Given the description of an element on the screen output the (x, y) to click on. 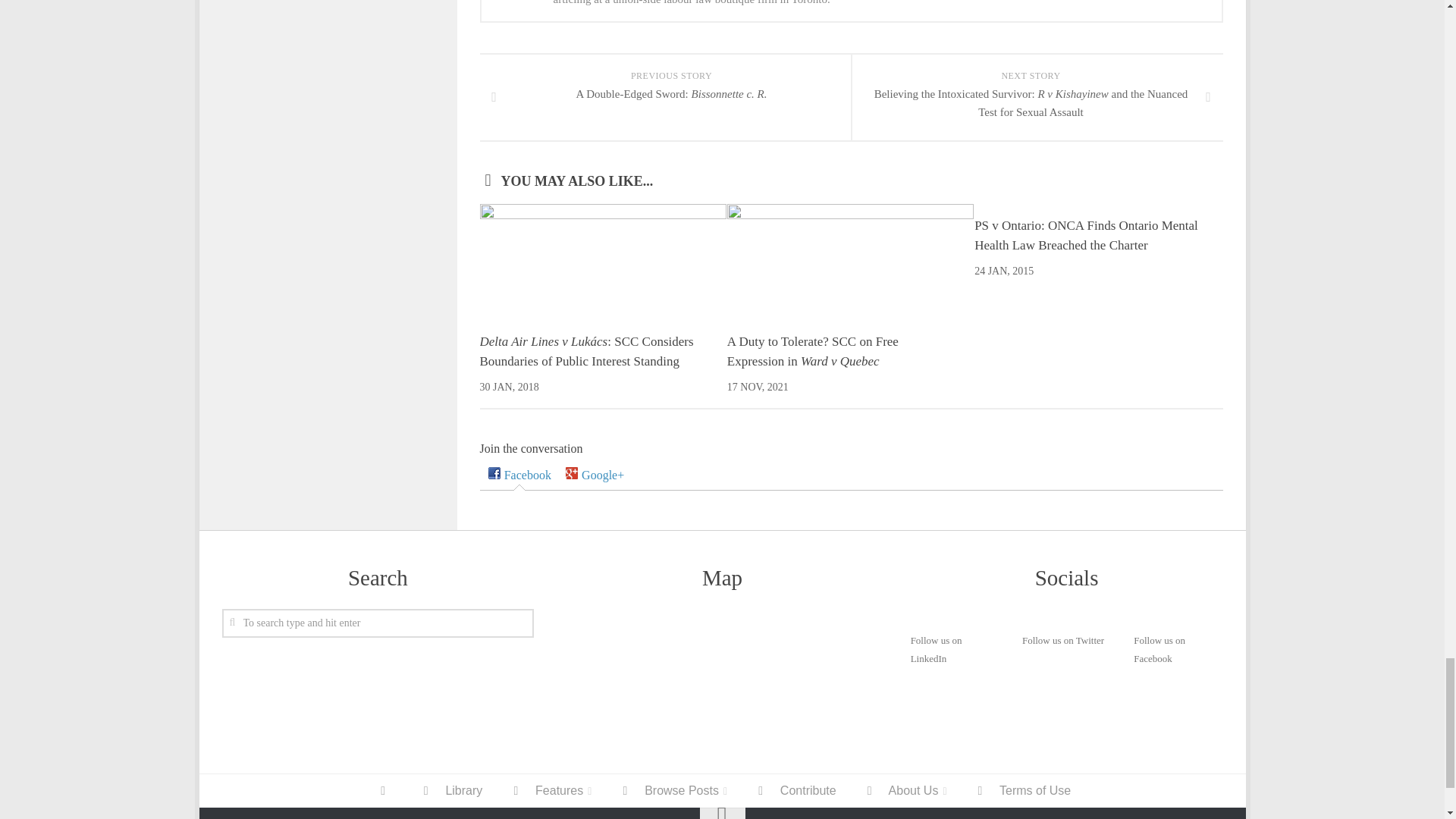
To search type and hit enter (377, 623)
To search type and hit enter (377, 623)
